Given the description of an element on the screen output the (x, y) to click on. 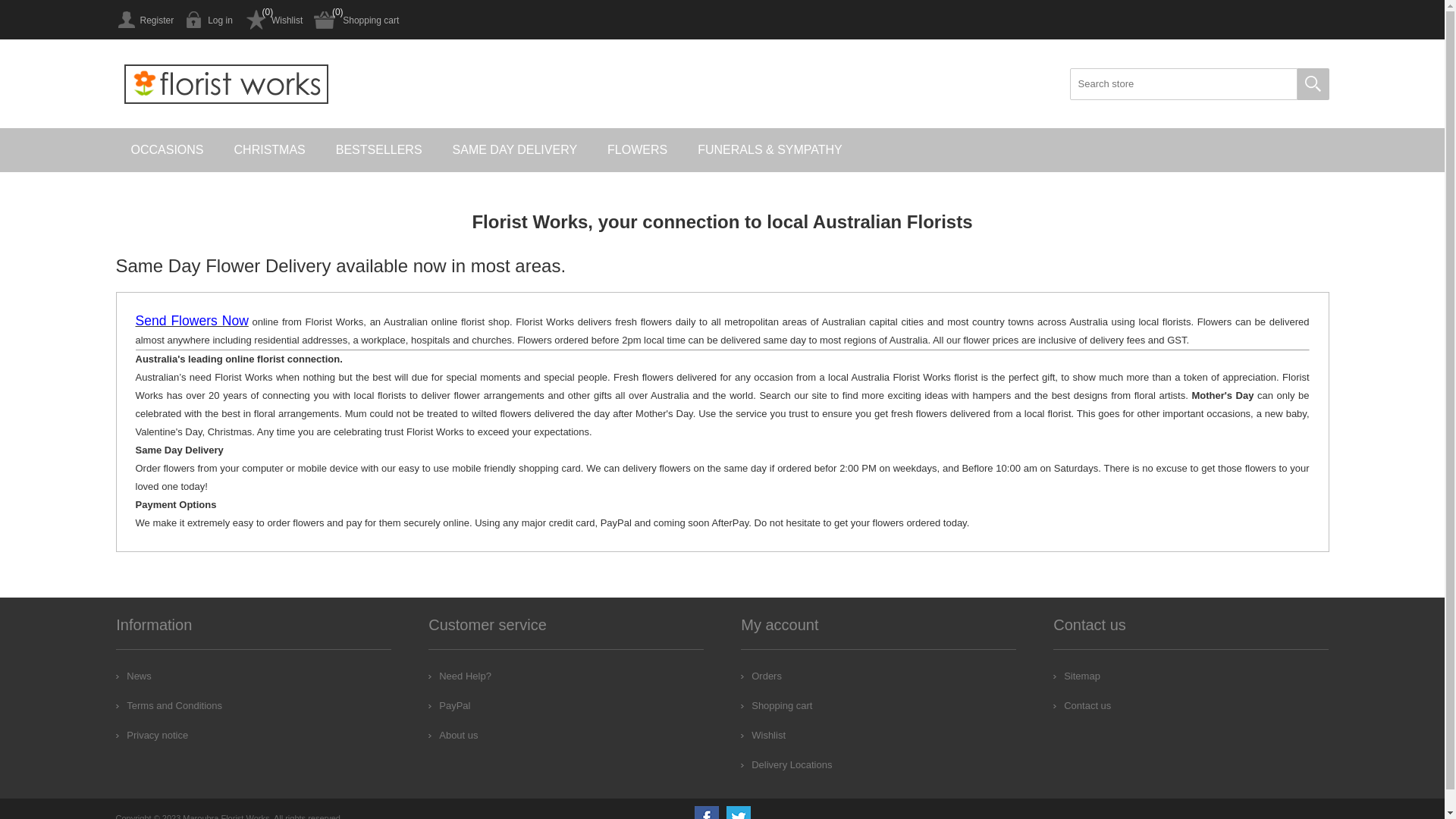
Contact us Element type: text (1081, 705)
FUNERALS & SYMPATHY Element type: text (769, 150)
Wishlist Element type: text (273, 19)
Shopping cart Element type: text (355, 19)
OCCASIONS Element type: text (166, 150)
Shopping cart Element type: text (776, 705)
Sitemap Element type: text (1076, 675)
News Element type: text (133, 675)
BESTSELLERS Element type: text (378, 150)
Privacy notice Element type: text (152, 734)
PayPal Element type: text (449, 705)
FLOWERS Element type: text (637, 150)
Wishlist Element type: text (762, 734)
Search Element type: text (1312, 84)
Send Flowers Now Element type: text (190, 321)
Register Element type: text (144, 19)
Need Help? Element type: text (459, 675)
About us Element type: text (452, 734)
CHRISTMAS Element type: text (269, 150)
Log in Element type: text (208, 19)
SAME DAY DELIVERY Element type: text (515, 150)
Terms and Conditions Element type: text (169, 705)
Orders Element type: text (760, 675)
Delivery Locations Element type: text (785, 764)
